Given the description of an element on the screen output the (x, y) to click on. 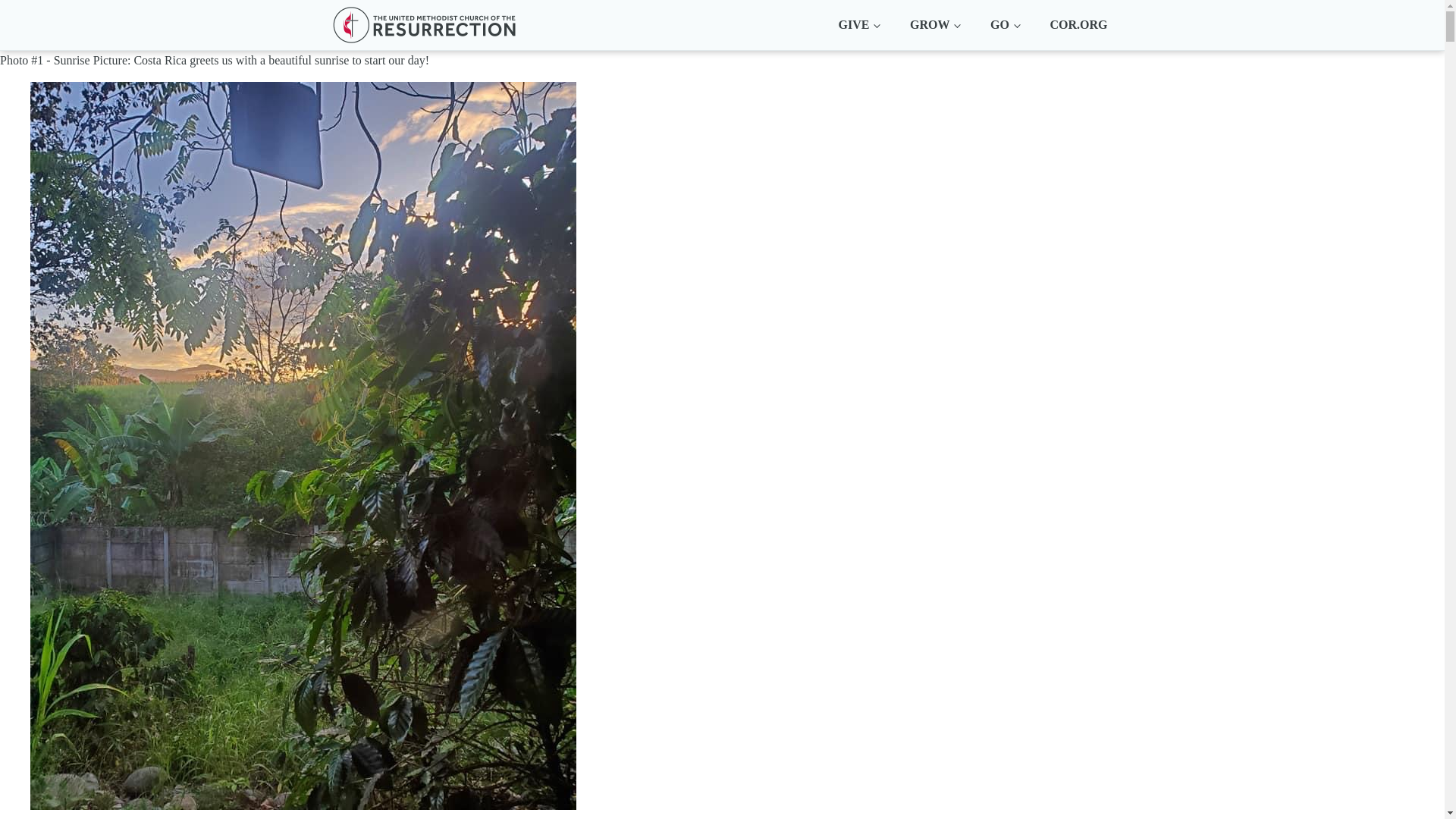
GROW (935, 24)
GIVE (858, 24)
GO (1004, 24)
COR.ORG (1077, 24)
